Given the description of an element on the screen output the (x, y) to click on. 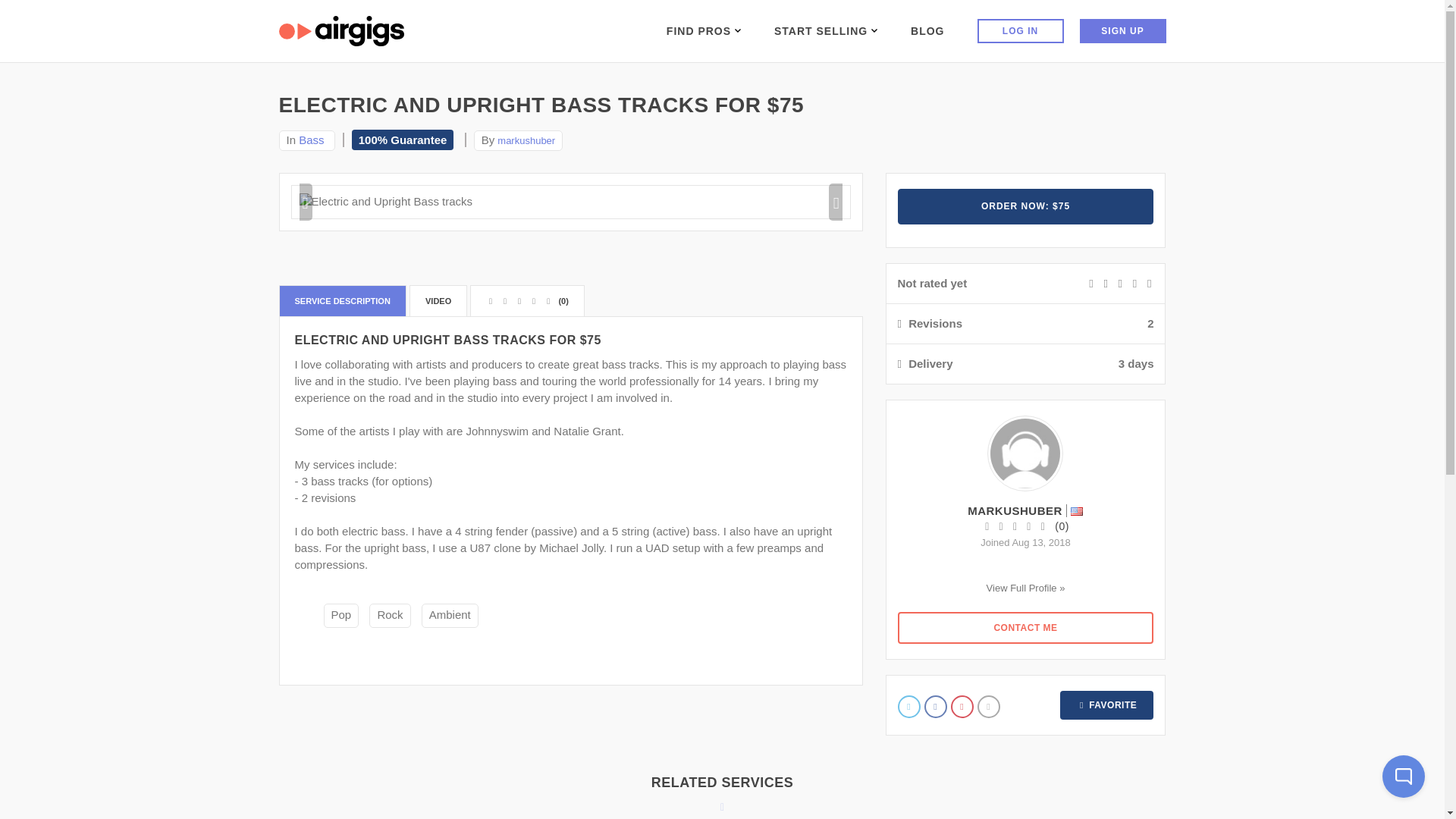
FIND PROS (703, 30)
contact (1026, 627)
Order Now (1026, 206)
Find Pros (703, 30)
Bass (310, 139)
